Given the description of an element on the screen output the (x, y) to click on. 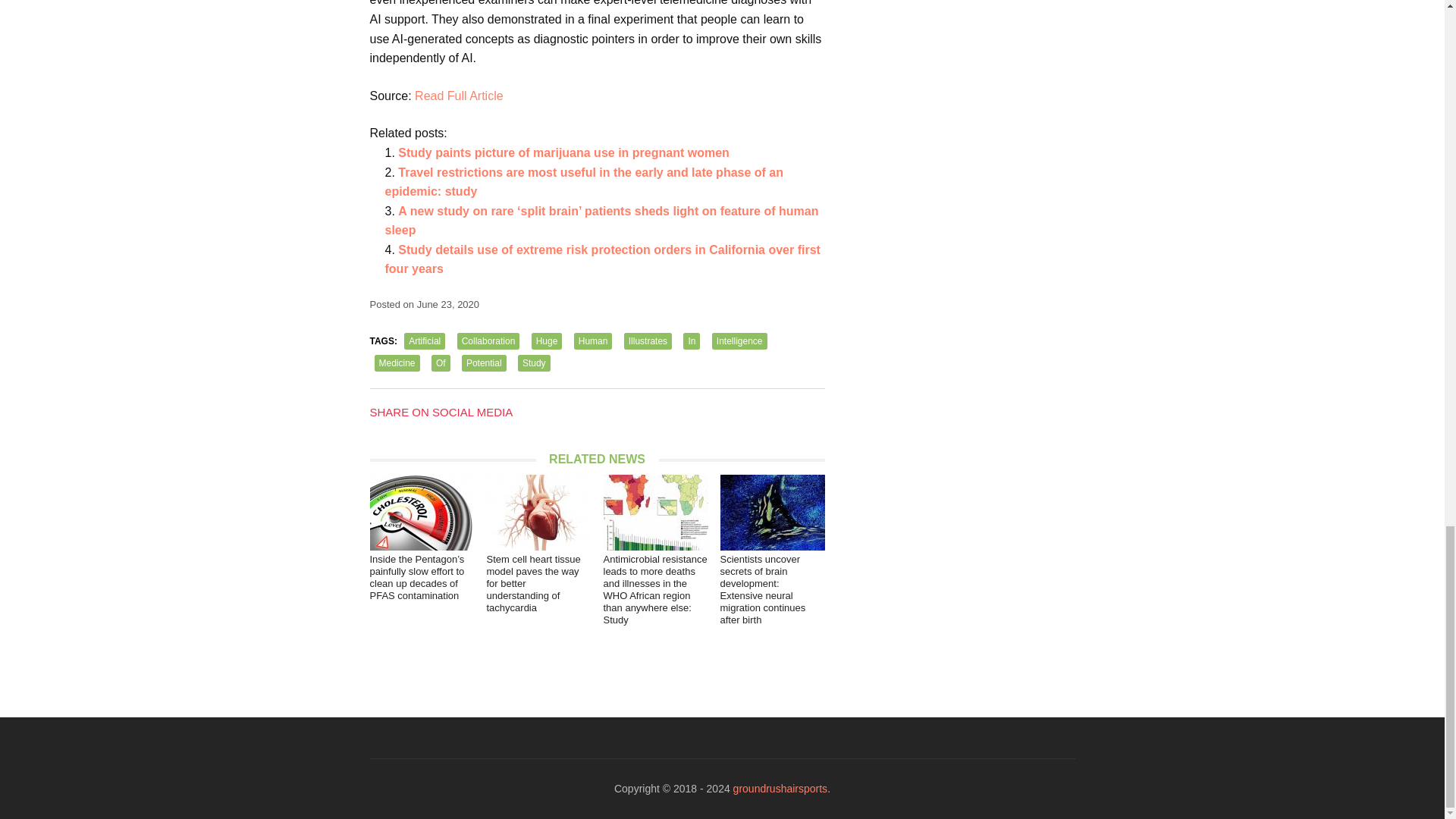
Study paints picture of marijuana use in pregnant women (563, 152)
Huge (546, 340)
Human (592, 340)
Intelligence (739, 340)
Read Full Article (458, 95)
Potential (483, 362)
